Given the description of an element on the screen output the (x, y) to click on. 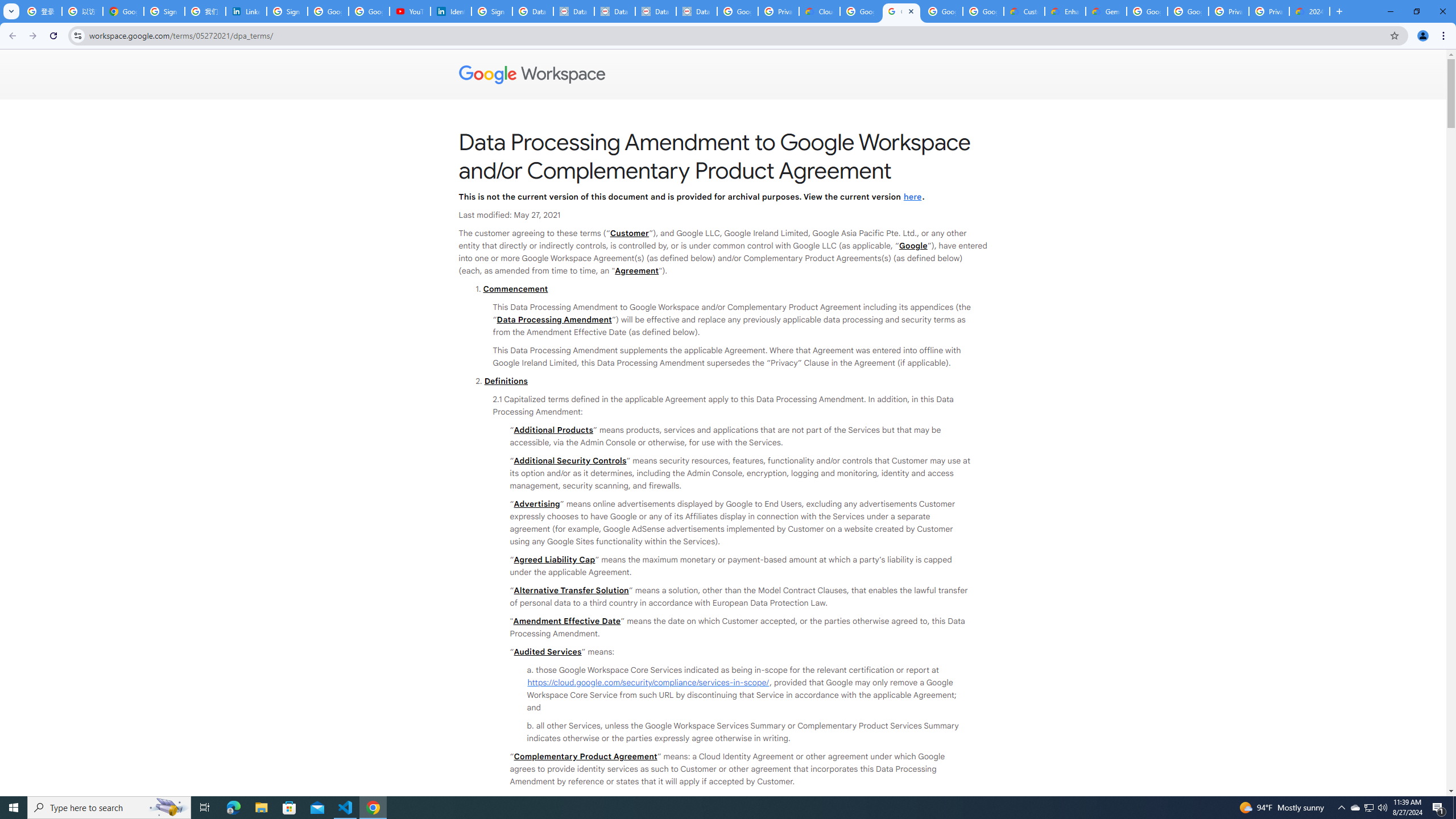
Google Workspace - Specific Terms (942, 11)
Sign in - Google Accounts (287, 11)
Data Privacy Framework (655, 11)
